Given the description of an element on the screen output the (x, y) to click on. 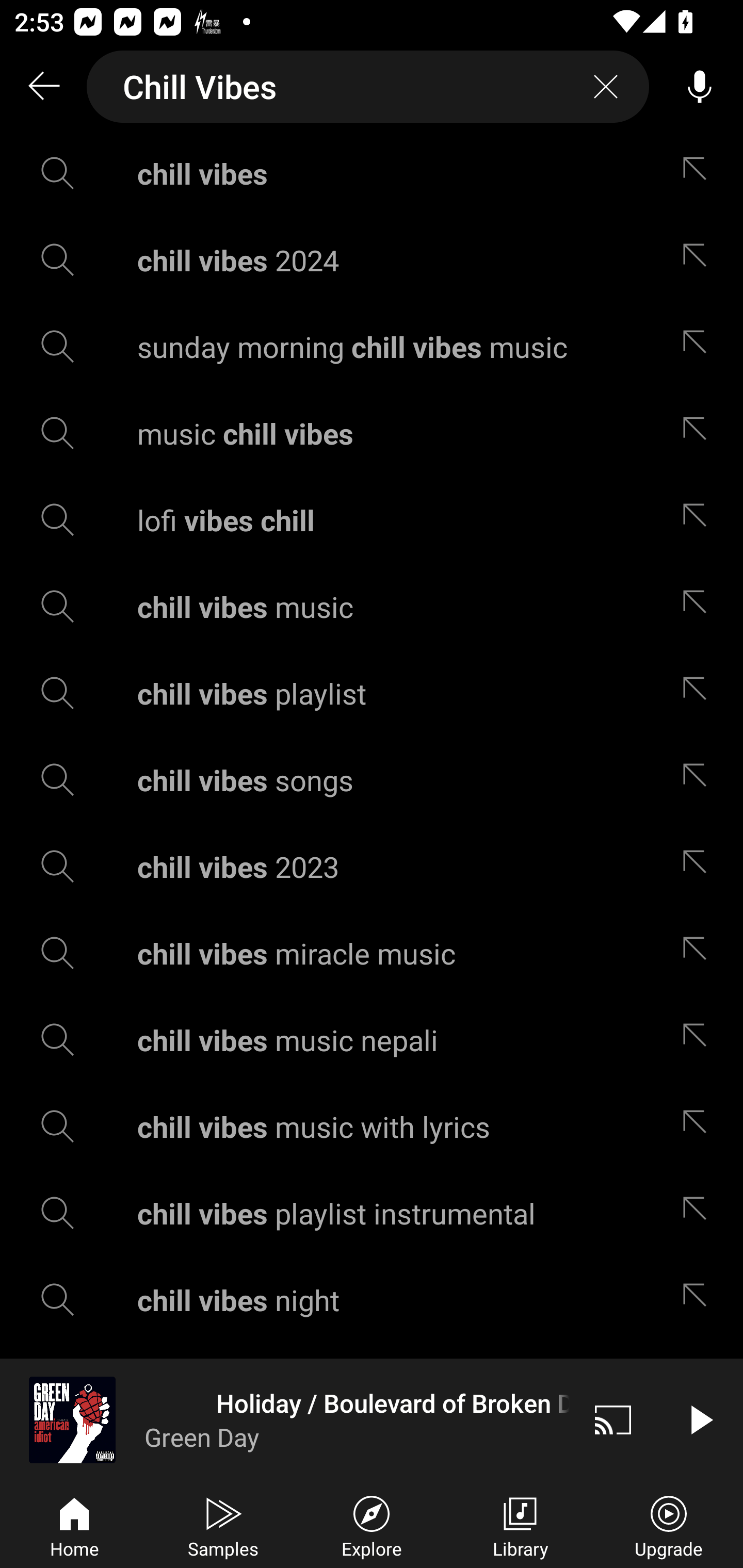
Search back (43, 86)
Chill Vibes (367, 86)
Clear search (605, 86)
Voice search (699, 86)
chill vibes Edit suggestion chill vibes (371, 173)
Edit suggestion chill vibes (699, 173)
chill vibes 2024 Edit suggestion chill vibes 2024 (371, 259)
Edit suggestion chill vibes 2024 (699, 259)
Edit suggestion sunday morning chill vibes music (699, 346)
Edit suggestion music chill vibes (699, 433)
lofi vibes chill Edit suggestion lofi vibes chill (371, 519)
Edit suggestion lofi vibes chill (699, 519)
Edit suggestion chill vibes music (699, 605)
Edit suggestion chill vibes playlist (699, 692)
Edit suggestion chill vibes songs (699, 779)
chill vibes 2023 Edit suggestion chill vibes 2023 (371, 866)
Edit suggestion chill vibes 2023 (699, 866)
Edit suggestion chill vibes miracle music (699, 953)
Edit suggestion chill vibes music nepali (699, 1040)
Edit suggestion chill vibes music with lyrics (699, 1126)
Edit suggestion chill vibes playlist instrumental (699, 1212)
Edit suggestion chill vibes night (699, 1299)
Holiday / Boulevard of Broken Dreams Green Day (284, 1419)
Cast. Disconnected (612, 1419)
Play video (699, 1419)
Home (74, 1524)
Samples (222, 1524)
Explore (371, 1524)
Library (519, 1524)
Upgrade (668, 1524)
